Given the description of an element on the screen output the (x, y) to click on. 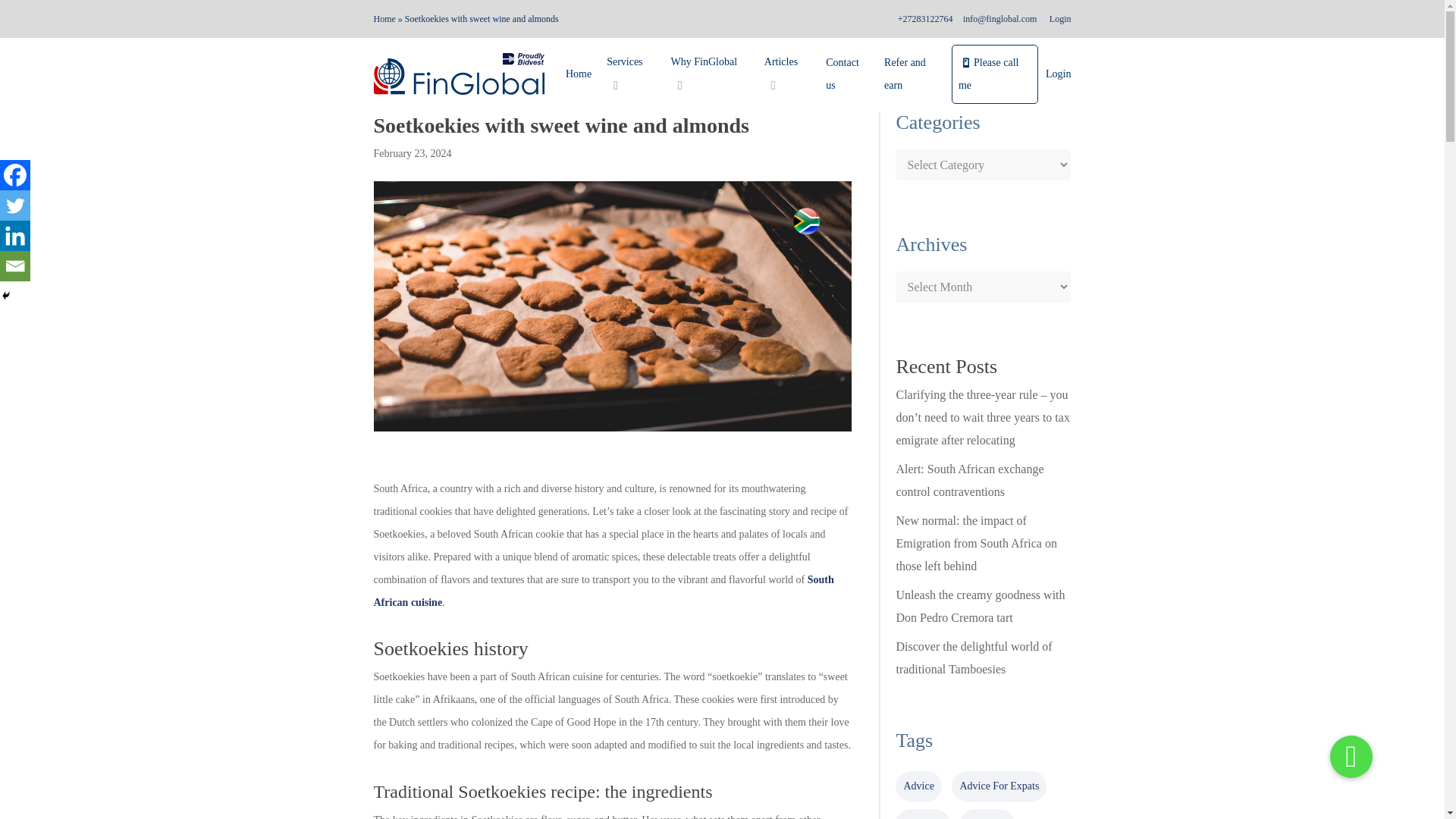
Linkedin (15, 235)
Twitter (15, 205)
Why FinGlobal (710, 73)
Articles (787, 73)
Hide (5, 295)
 Login (1058, 18)
Services (630, 73)
Home (577, 73)
Email (15, 265)
Facebook (15, 174)
Home (383, 18)
